Given the description of an element on the screen output the (x, y) to click on. 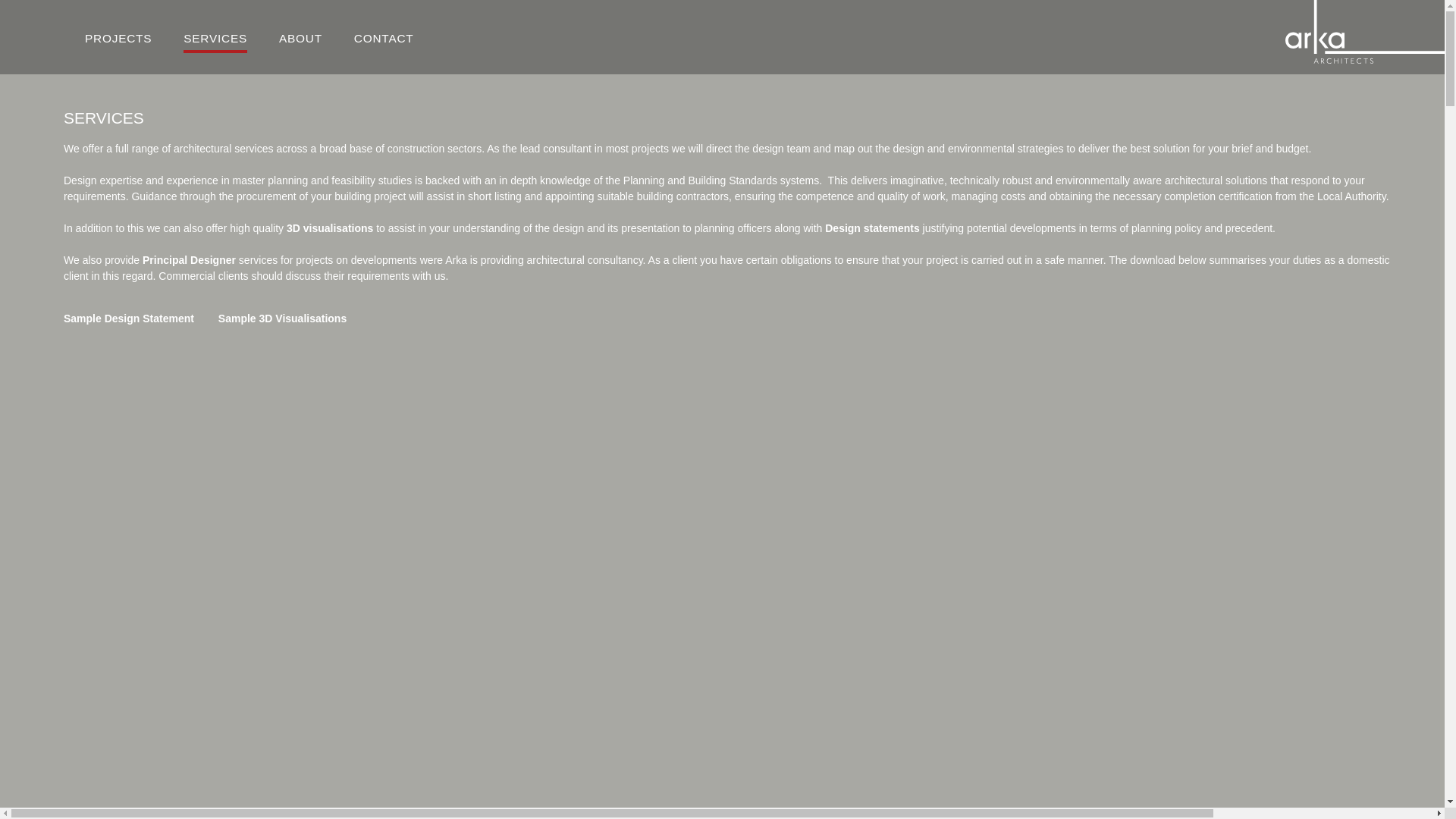
CONTACT (383, 41)
SERVICES (215, 41)
Sample 3D Visualisations (282, 318)
Sample Design Statement (128, 318)
PROJECTS (117, 41)
ABOUT (300, 41)
